Given the description of an element on the screen output the (x, y) to click on. 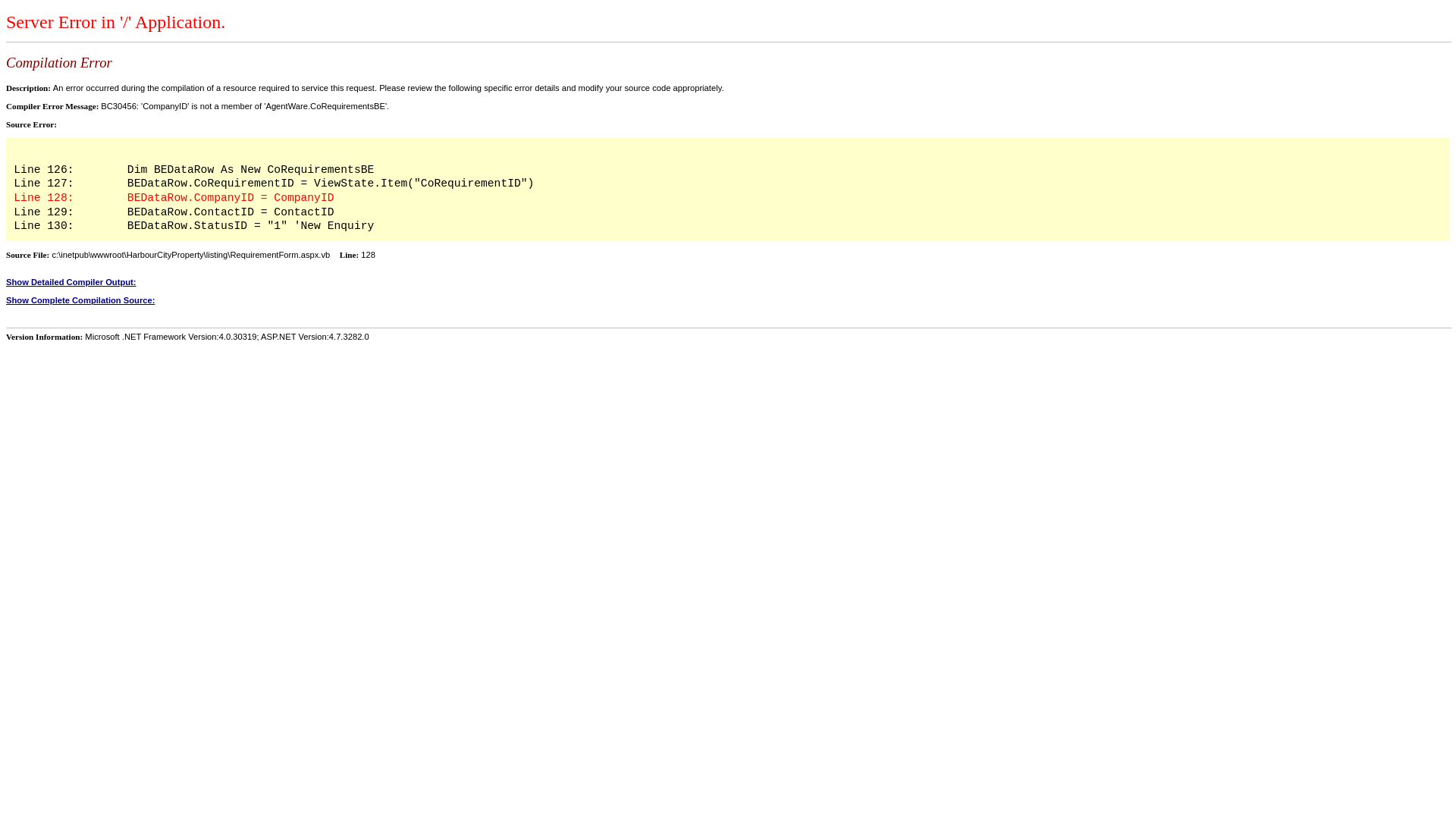
Show Complete Compilation Source: Element type: text (727, 299)
Show Detailed Compiler Output: Element type: text (727, 281)
